Given the description of an element on the screen output the (x, y) to click on. 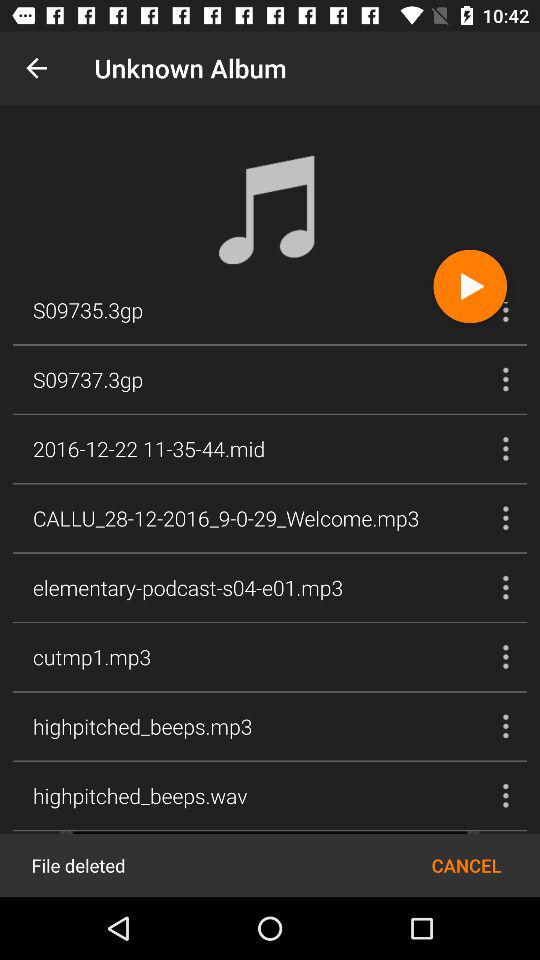
select the more options button above cancel option (505, 795)
select the second song (505, 380)
three dot icon right to cutmp1mp3 (505, 656)
click on fifth more button from top (505, 587)
